Given the description of an element on the screen output the (x, y) to click on. 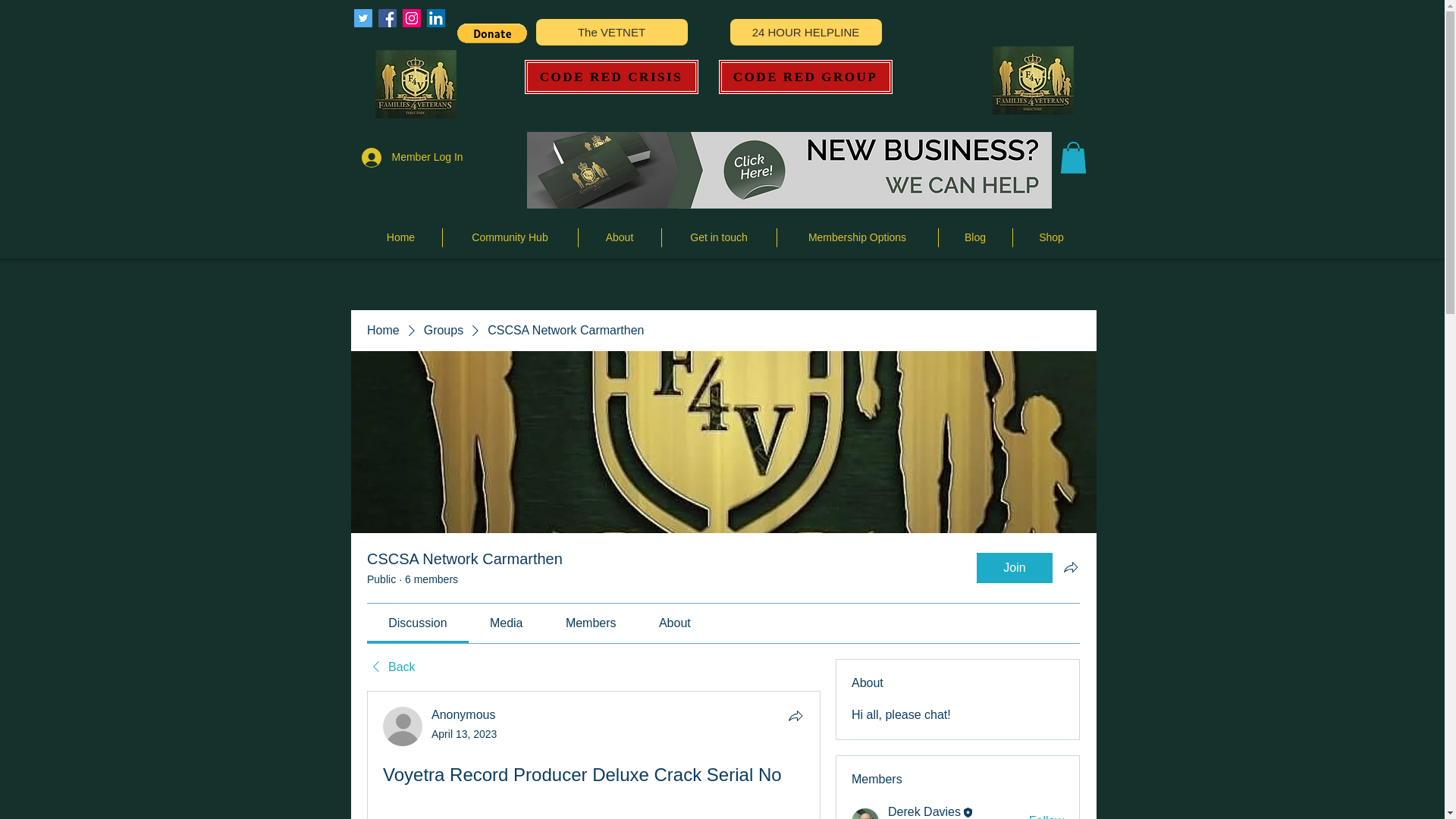
Anonymous (463, 714)
CODE RED CRISIS (611, 76)
Member Log In (394, 156)
Get in touch (718, 237)
Groups (443, 330)
April 13, 2023 (463, 734)
Home (382, 330)
Shop (1051, 237)
About (619, 237)
Join (1014, 567)
Derek Davies (865, 813)
CODE RED GROUP (805, 76)
Membership Options (856, 237)
The VETNET (611, 31)
24 HOUR HELPLINE (804, 31)
